Given the description of an element on the screen output the (x, y) to click on. 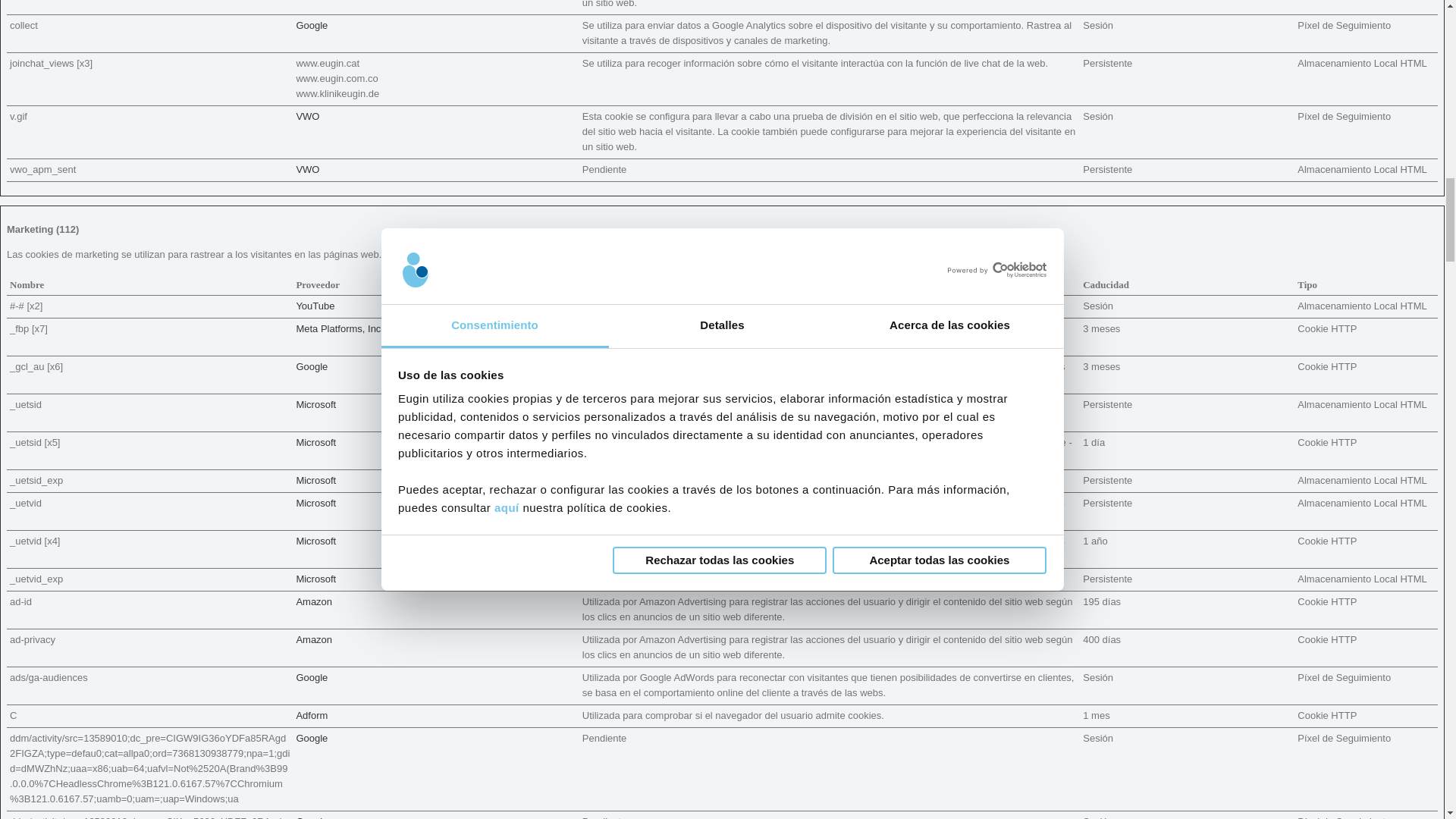
Microsoft (315, 404)
Google (311, 366)
Google (311, 25)
VWO (306, 116)
Microsoft (315, 541)
Meta Platforms, Inc. (339, 328)
VWO (306, 169)
Microsoft (315, 578)
Microsoft (315, 480)
Amazon (313, 639)
YouTube (314, 306)
Microsoft (315, 502)
Microsoft (315, 441)
Amazon (313, 601)
